Given the description of an element on the screen output the (x, y) to click on. 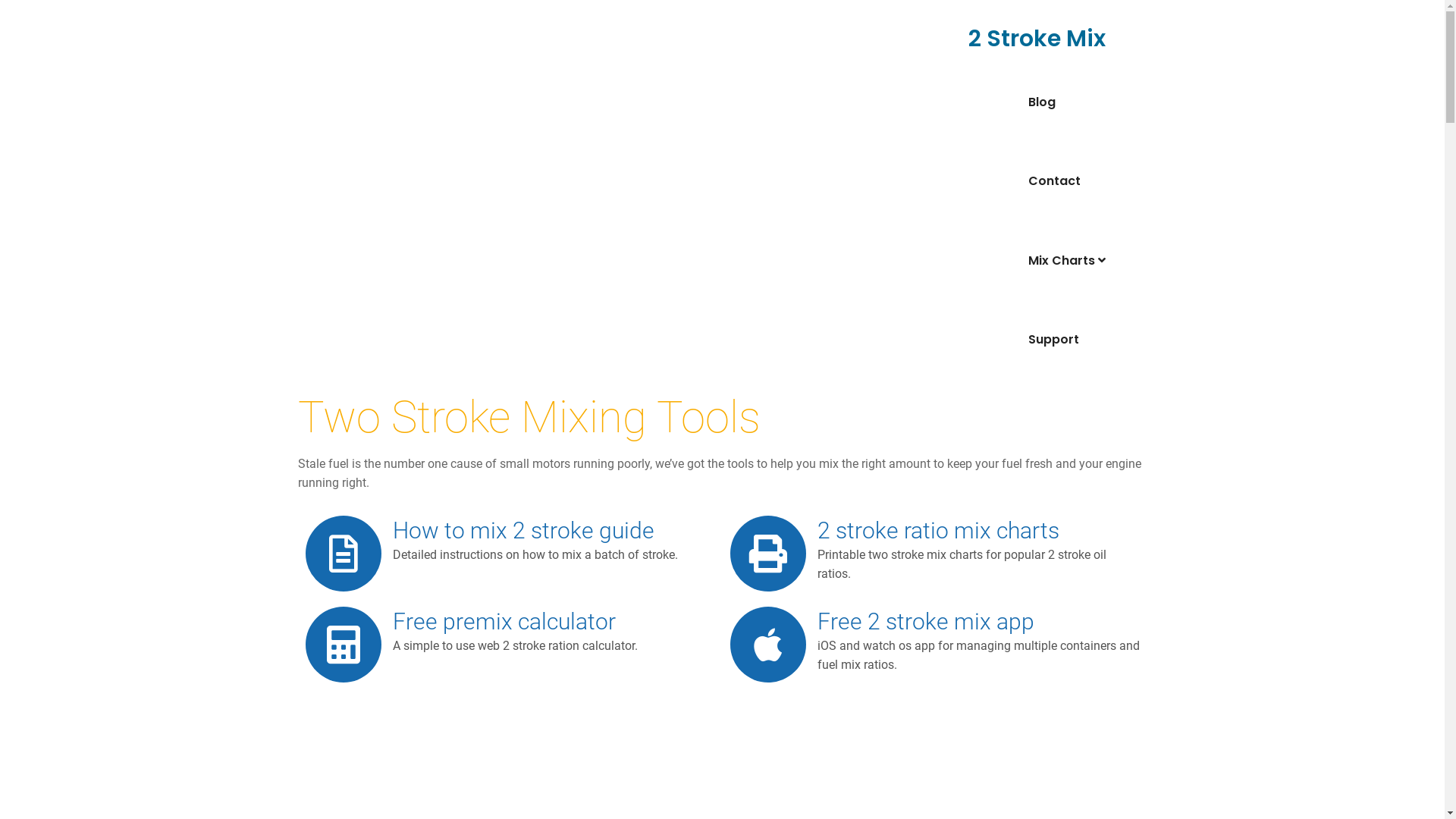
How to mix 2 stroke guide Element type: text (523, 530)
Contact Element type: text (1077, 181)
Free premix calculator Element type: text (503, 621)
Free 2 stroke mix app Element type: text (925, 621)
Support Element type: text (1077, 339)
2 Stroke Mix Element type: text (1035, 38)
2 stroke ratio mix charts Element type: text (938, 530)
Mix Charts Element type: text (1077, 260)
Blog Element type: text (1077, 102)
